Given the description of an element on the screen output the (x, y) to click on. 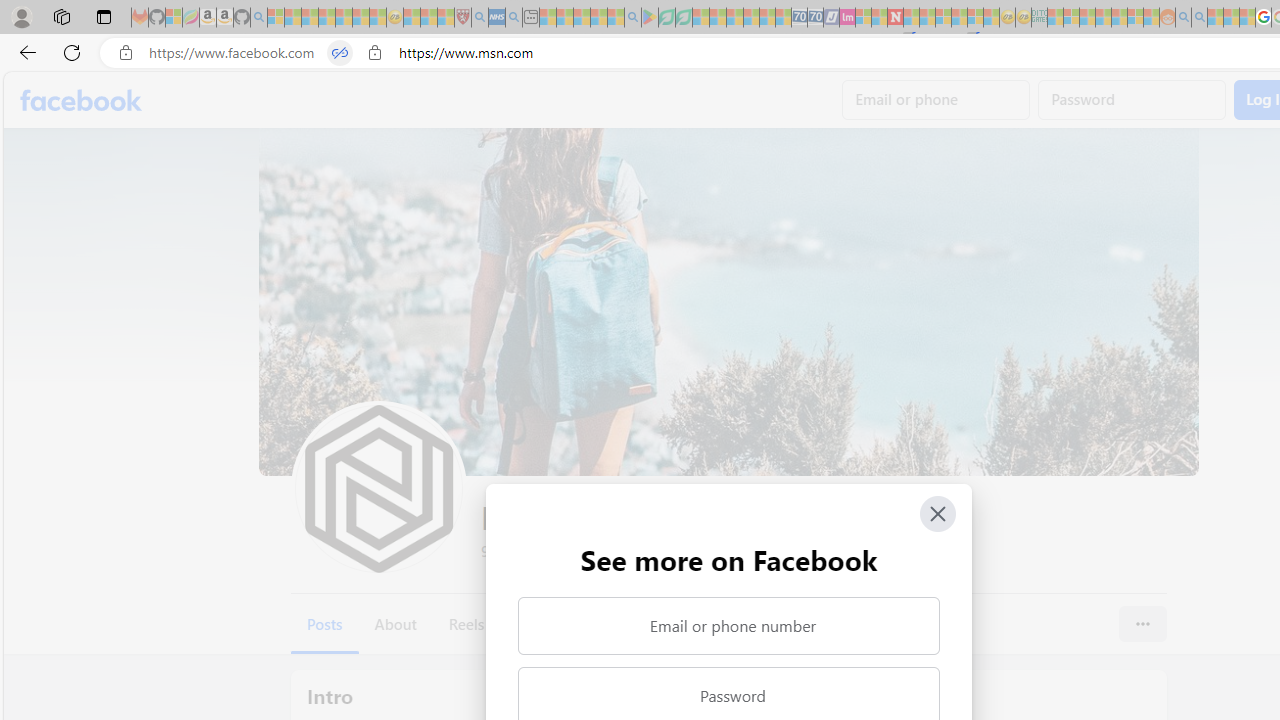
Workspaces (61, 16)
Local - MSN - Sleeping (445, 17)
Email or phone number (728, 625)
New Report Confirms 2023 Was Record Hot | Watch - Sleeping (343, 17)
Expert Portfolios - Sleeping (1103, 17)
Cheap Car Rentals - Save70.com - Sleeping (799, 17)
New tab - Sleeping (530, 17)
Tabs in split screen (339, 53)
Tab actions menu (104, 16)
Refresh (72, 52)
Microsoft Start - Sleeping (1215, 17)
utah sues federal government - Search - Sleeping (513, 17)
